Given the description of an element on the screen output the (x, y) to click on. 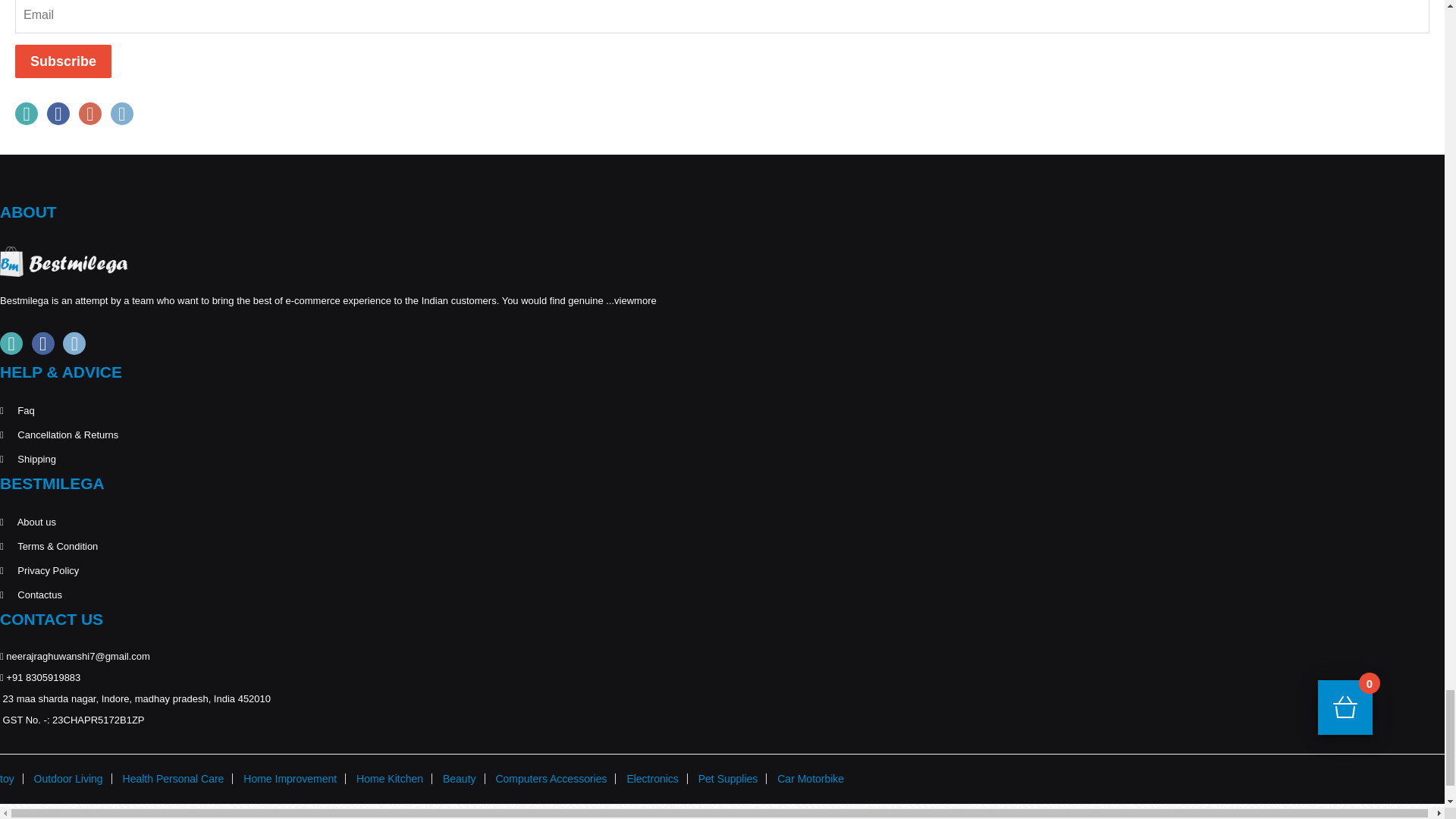
Subscribe (63, 61)
